Given the description of an element on the screen output the (x, y) to click on. 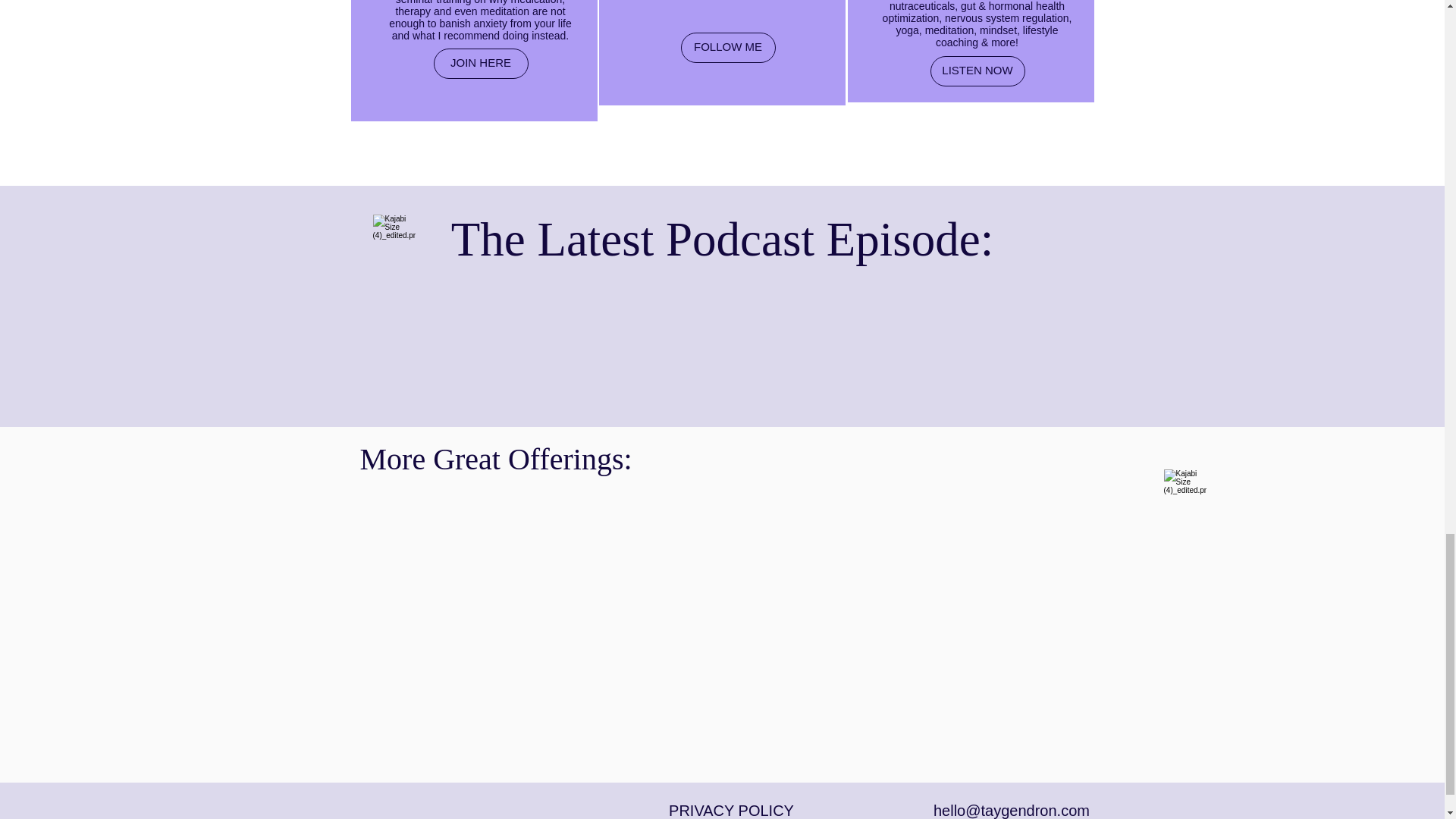
LISTEN NOW (977, 71)
FOLLOW ME (728, 46)
JOIN HERE (480, 63)
PRIVACY POLICY (730, 810)
